Given the description of an element on the screen output the (x, y) to click on. 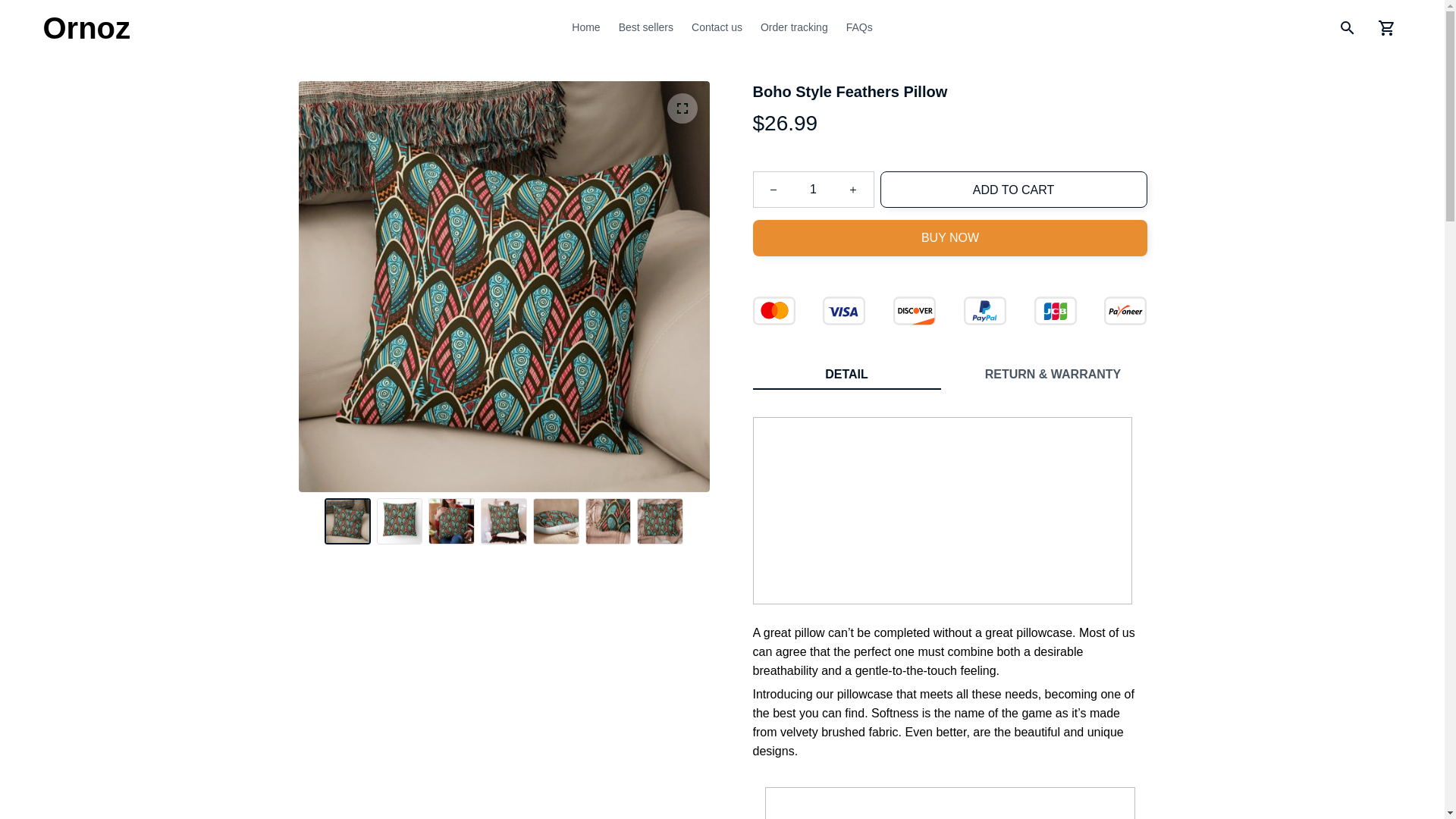
1 (812, 189)
Contact us (716, 28)
Best sellers (646, 28)
FAQs (854, 28)
Home (590, 28)
DETAIL (846, 374)
Order tracking (794, 28)
